Given the description of an element on the screen output the (x, y) to click on. 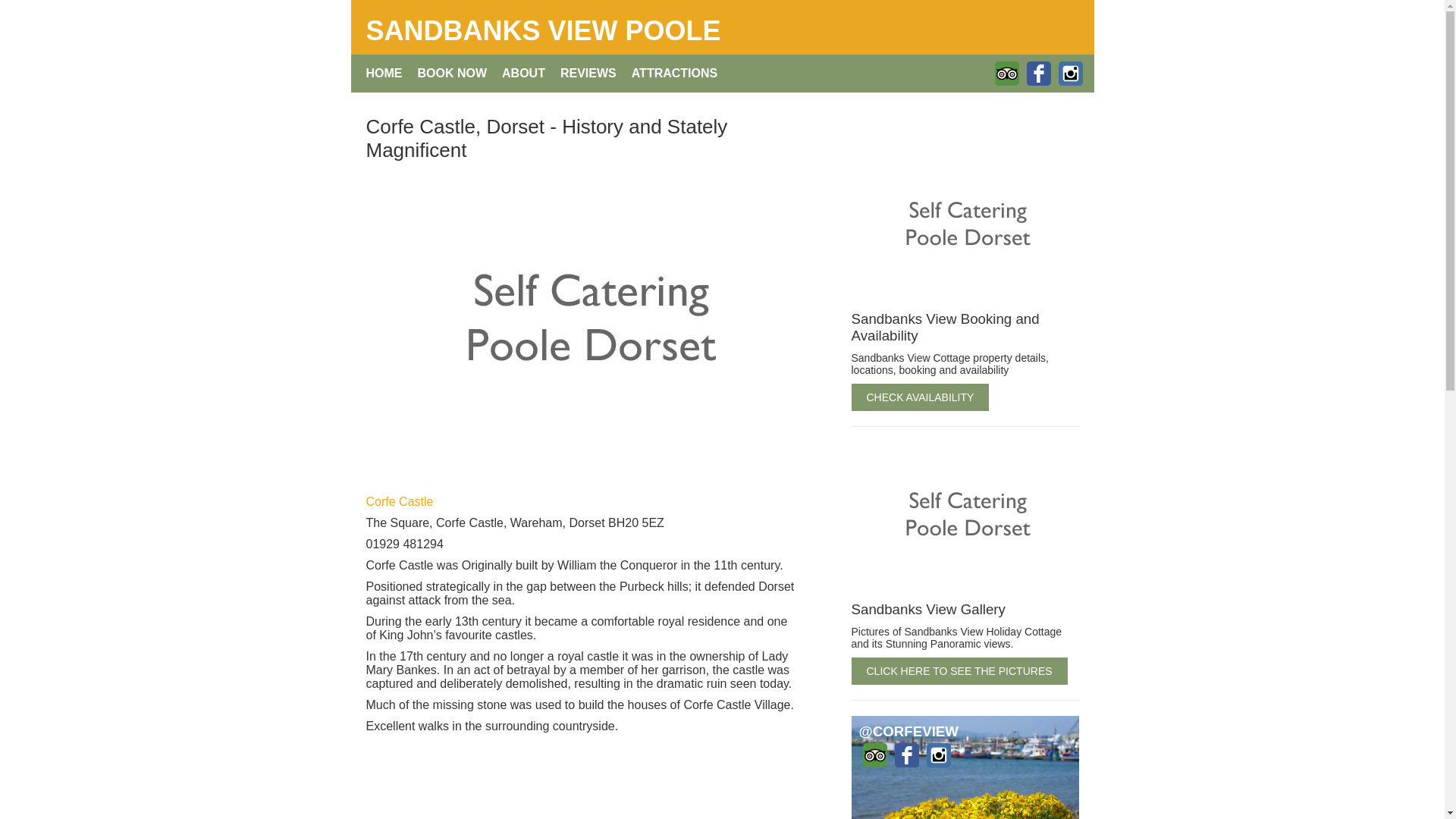
Sandbanks View Cottage Holiday Gallery (964, 227)
Sandbanks view cottage gallery (964, 517)
BOOK NOW (452, 73)
ABOUT (524, 73)
ATTRACTIONS (674, 73)
Corfe Castle (398, 501)
HOME (383, 73)
REVIEWS (588, 73)
Corfe Castle (398, 501)
